Given the description of an element on the screen output the (x, y) to click on. 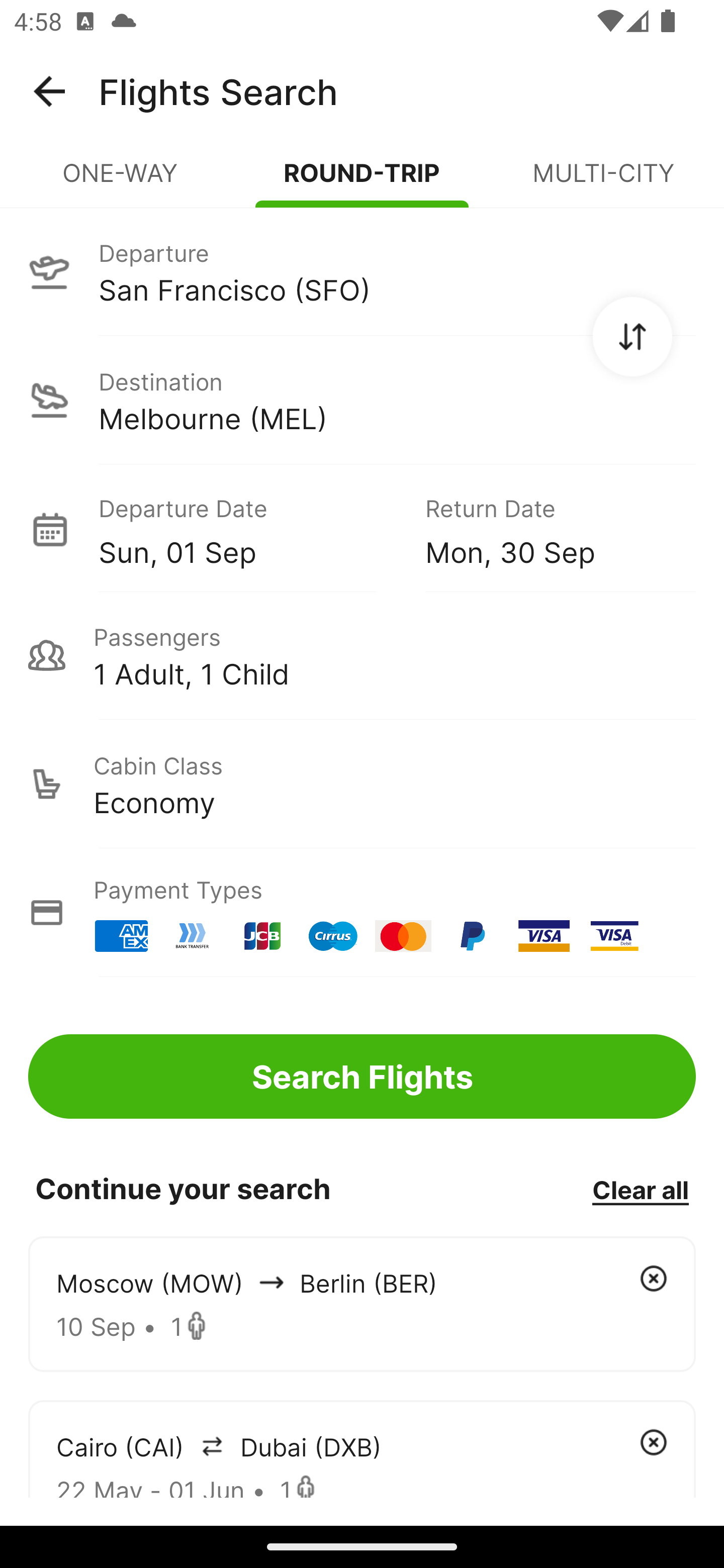
ONE-WAY (120, 180)
ROUND-TRIP (361, 180)
MULTI-CITY (603, 180)
Departure San Francisco (SFO) (362, 270)
Destination Melbourne (MEL) (362, 400)
Departure Date Sun, 01 Sep (247, 528)
Return Date Mon, 30 Sep (546, 528)
Passengers 1 Adult, 1 Child (362, 655)
Cabin Class Economy (362, 783)
Payment Types (362, 912)
Search Flights (361, 1075)
Clear all (640, 1189)
Moscow (MOW)  arrowIcon  Berlin (BER) 10 Sep •  1  (361, 1303)
